Given the description of an element on the screen output the (x, y) to click on. 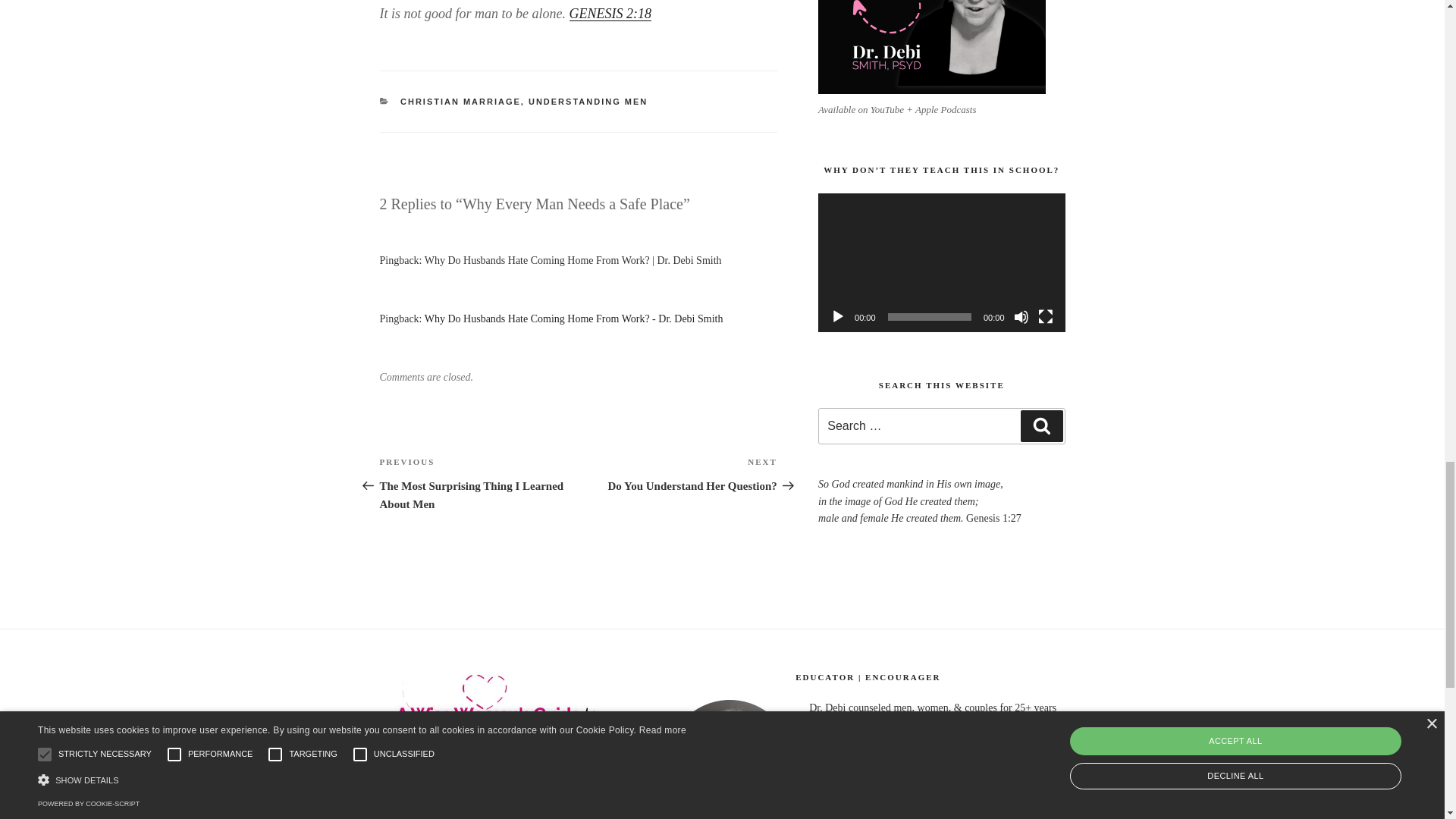
Dr. Debi, Founder of A Wise Woman's Guide (499, 733)
Why Do Husbands Hate Coming Home From Work? - Dr. Debi Smith (574, 318)
Fullscreen (677, 473)
UNDERSTANDING MEN (1044, 316)
Play (587, 101)
GENESIS 2:18 (837, 316)
Listen on Apple Podcasts (609, 13)
Mute (931, 47)
CHRISTIAN MARRIAGE (1020, 316)
